Given the description of an element on the screen output the (x, y) to click on. 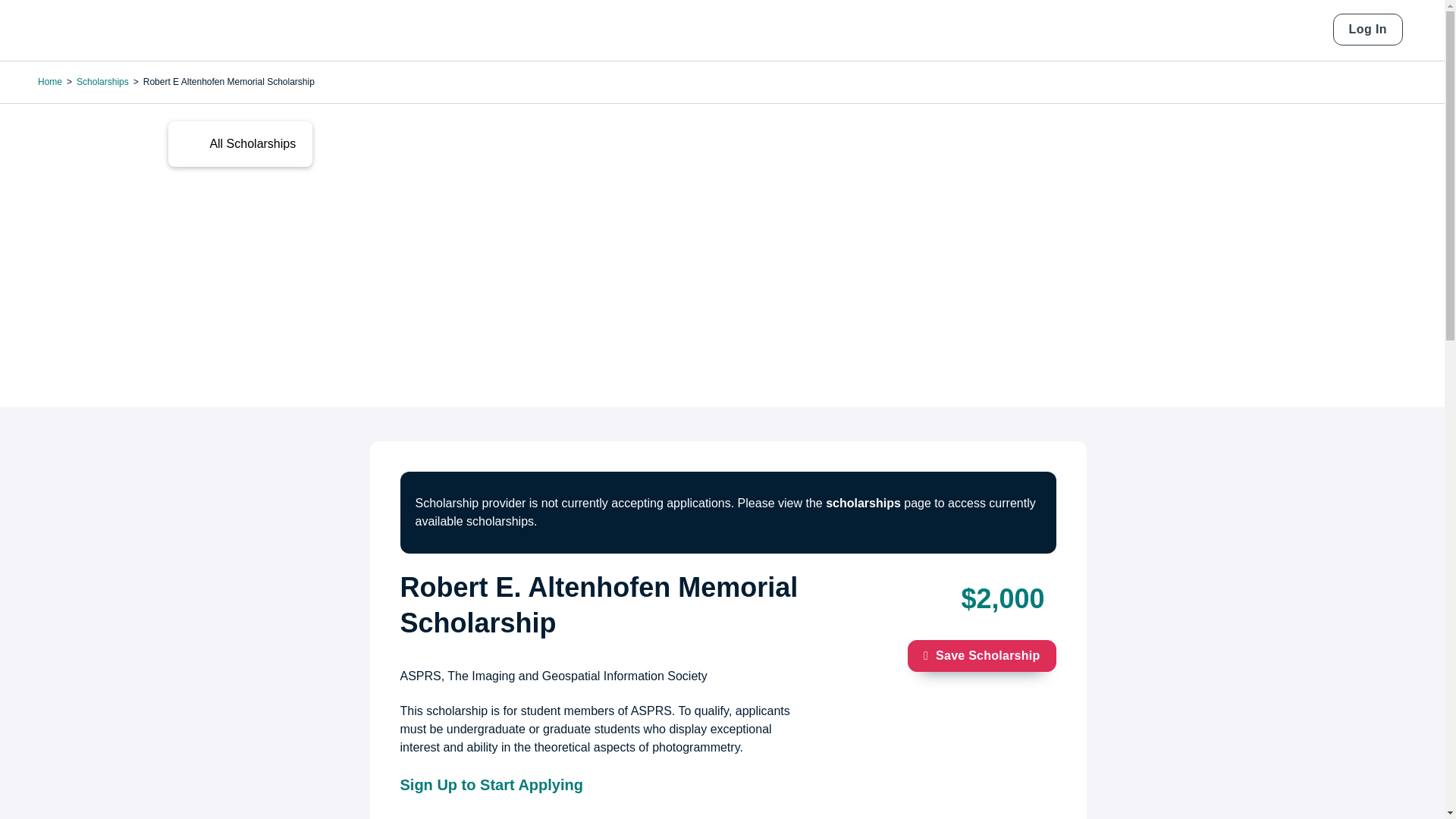
Home (90, 29)
